Given the description of an element on the screen output the (x, y) to click on. 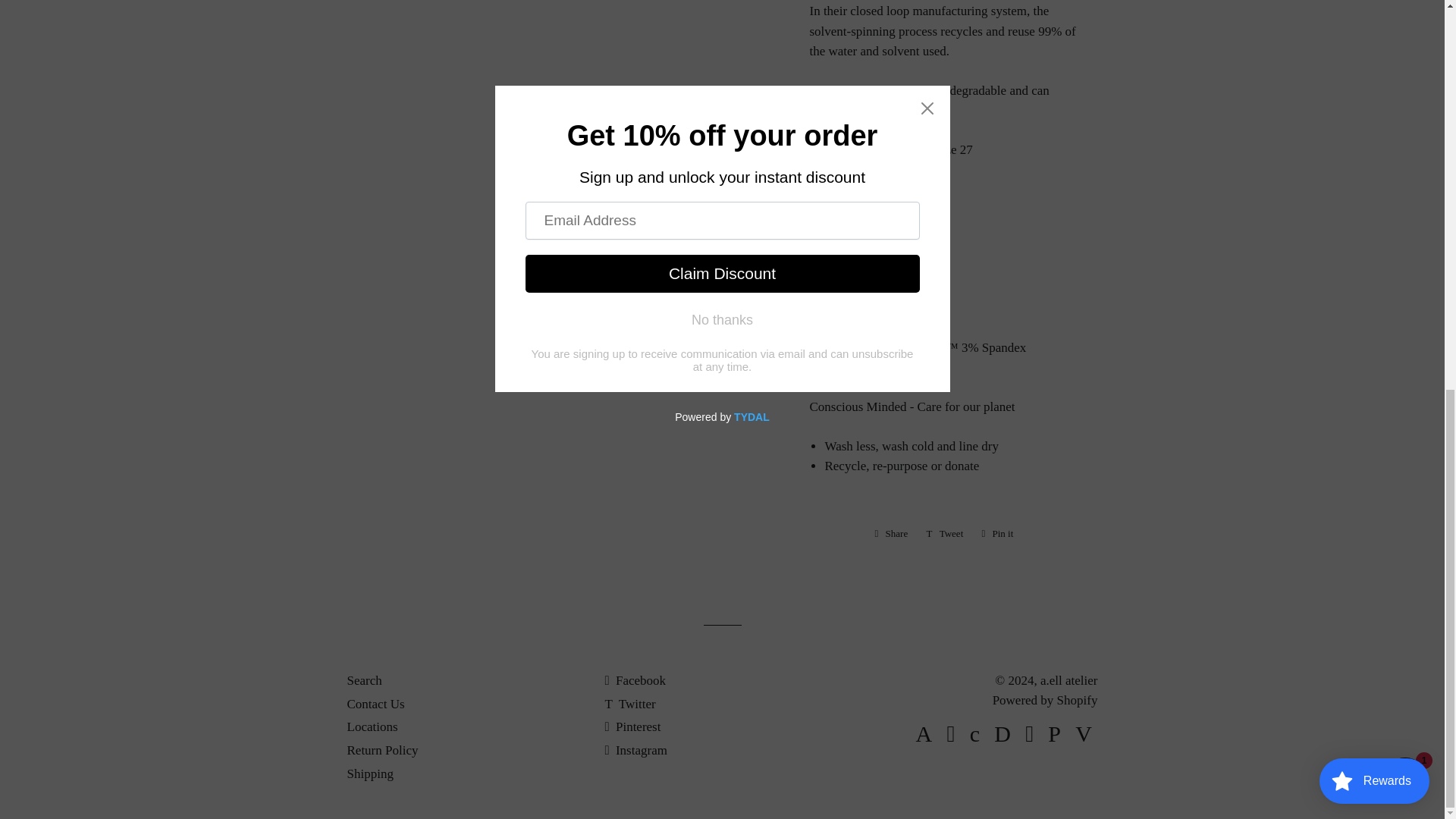
Pin on Pinterest (997, 533)
Shopify online store chat (997, 533)
a.ell atelier on Facebook (1404, 40)
a.ell atelier on Twitter (634, 680)
Share on Facebook (944, 533)
Search (629, 703)
a.ell atelier on Instagram (891, 533)
Tweet on Twitter (364, 680)
a.ell atelier on Pinterest (891, 533)
